Given the description of an element on the screen output the (x, y) to click on. 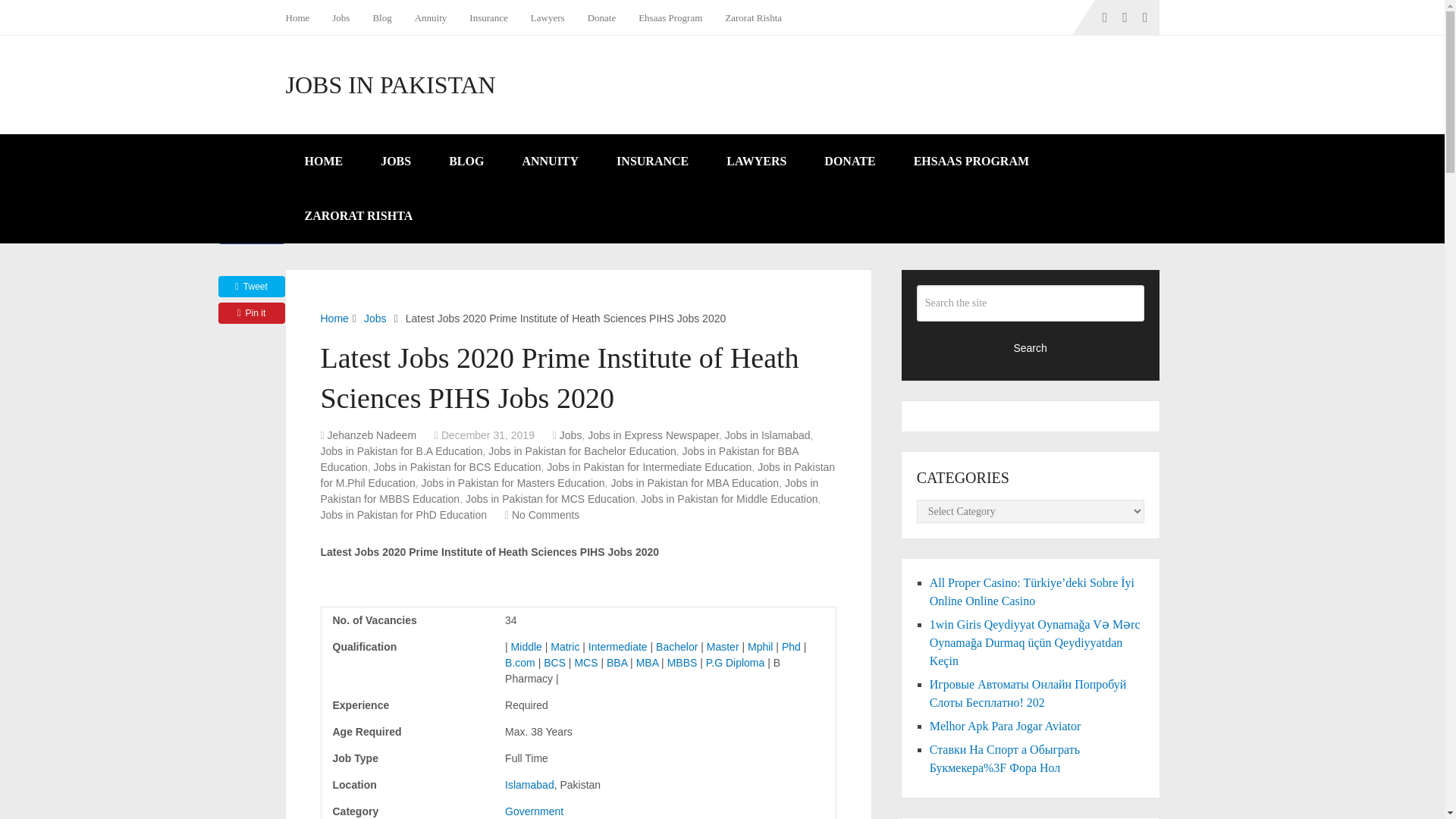
Lawyers (547, 17)
JOBS IN PAKISTAN (390, 84)
Jobs in Pakistan for MCS Education (549, 499)
View all posts in Jobs in Pakistan for Masters Education (513, 482)
Jobs in Pakistan for MBA Education (694, 482)
View all posts in Jobs in Pakistan for MBA Education (694, 482)
Jobs in Express Newspaper (653, 435)
Jobs in Pakistan for Bachelor Education (581, 451)
Jobs (570, 435)
INSURANCE (651, 161)
